Given the description of an element on the screen output the (x, y) to click on. 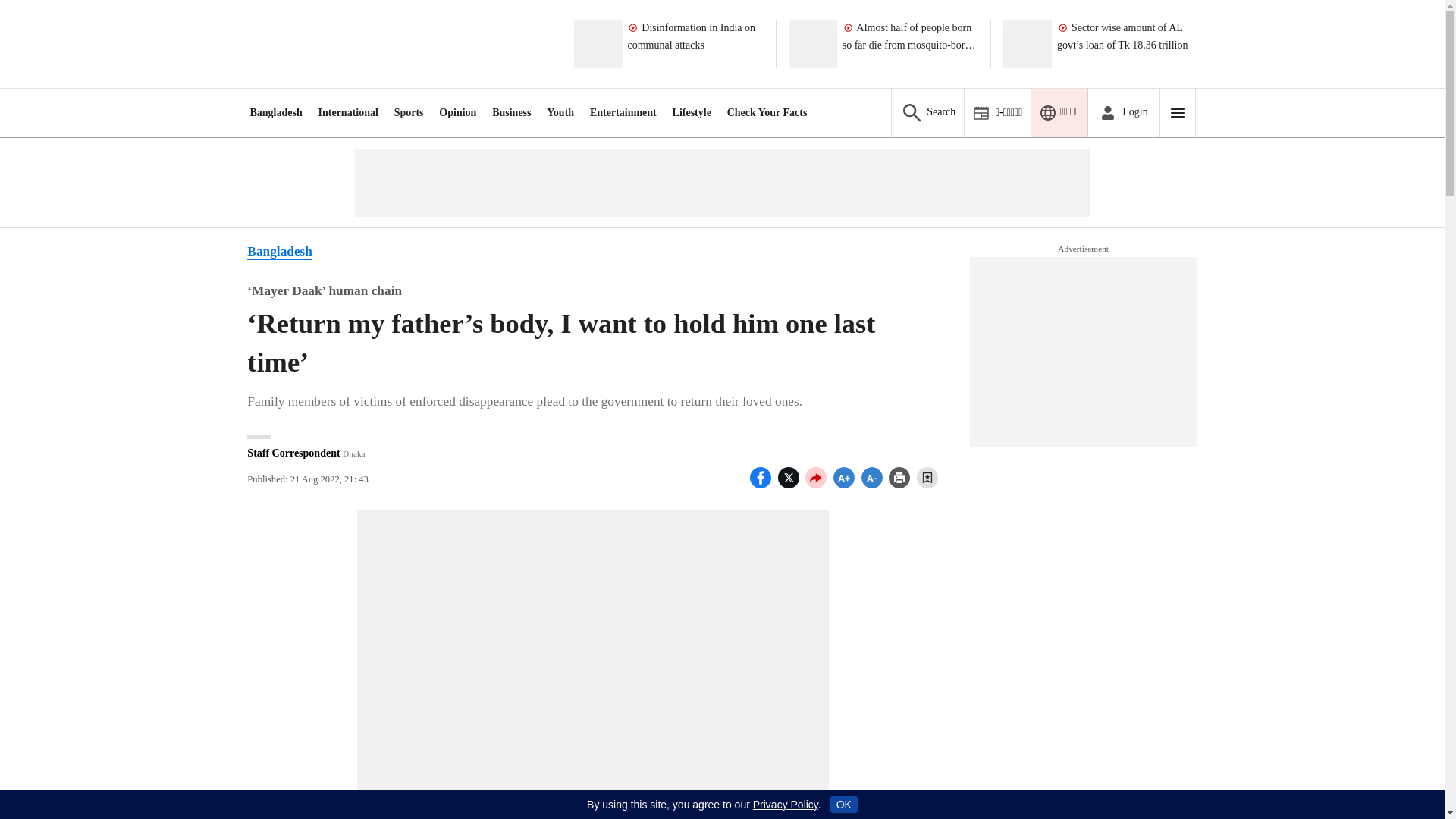
Privacy Policy (785, 804)
Business (511, 112)
Bangladesh (274, 112)
Entertainment (622, 112)
Sports (408, 112)
OK (843, 804)
Youth (560, 112)
Opinion (457, 112)
Search (926, 112)
